Given the description of an element on the screen output the (x, y) to click on. 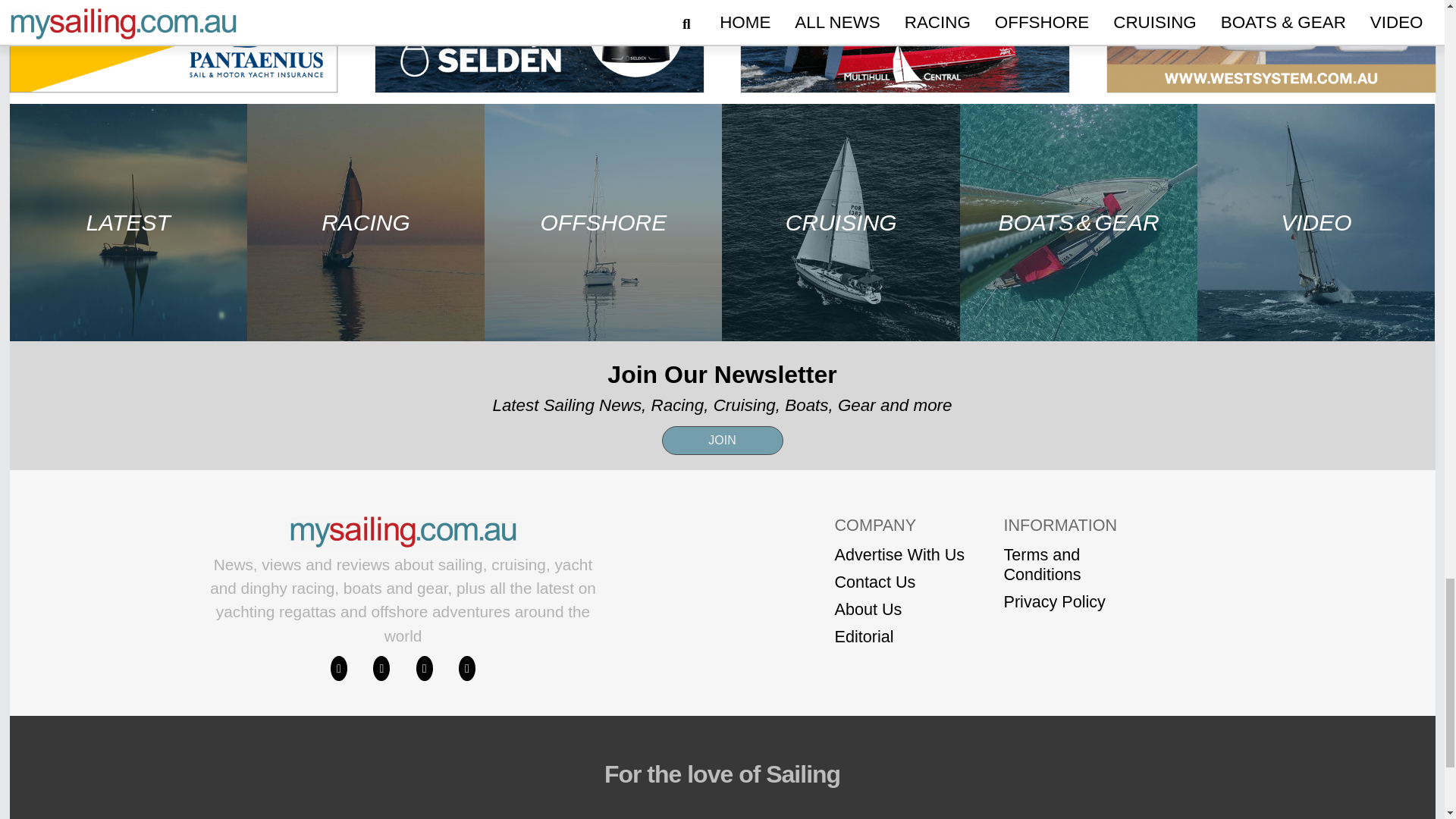
About Us (899, 609)
Editorial (899, 637)
Advertise With Us (899, 555)
Contact Us (899, 582)
